Given the description of an element on the screen output the (x, y) to click on. 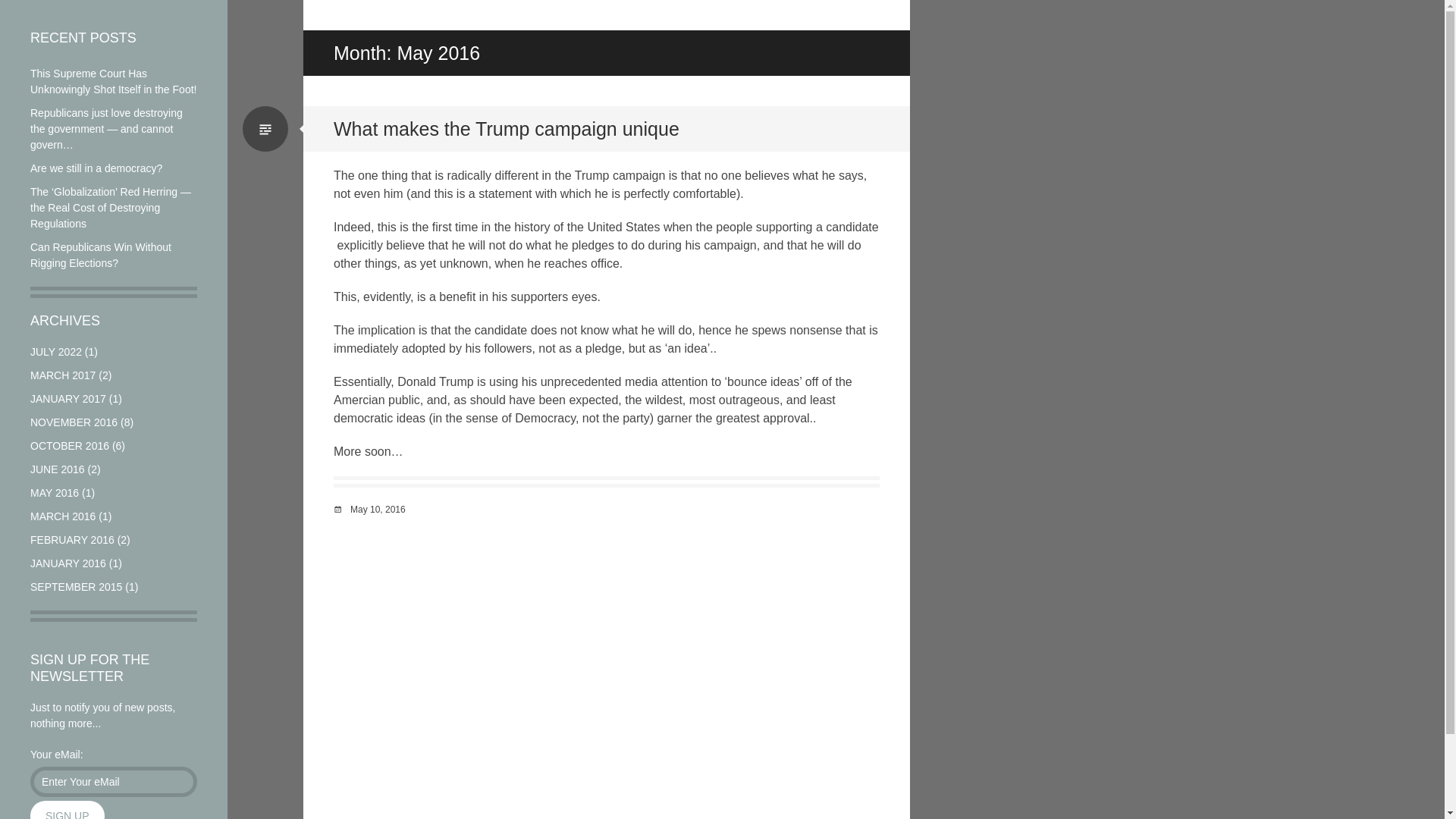
JULY 2022 (55, 351)
12:50 am (378, 509)
MARCH 2016 (63, 516)
This Supreme Court Has Unknowingly Shot Itself in the Foot! (113, 81)
JANUARY 2017 (68, 398)
FEBRUARY 2016 (72, 539)
Can Republicans Win Without Rigging Elections? (100, 254)
JUNE 2016 (57, 469)
Sign Up (67, 809)
MARCH 2017 (63, 375)
